Given the description of an element on the screen output the (x, y) to click on. 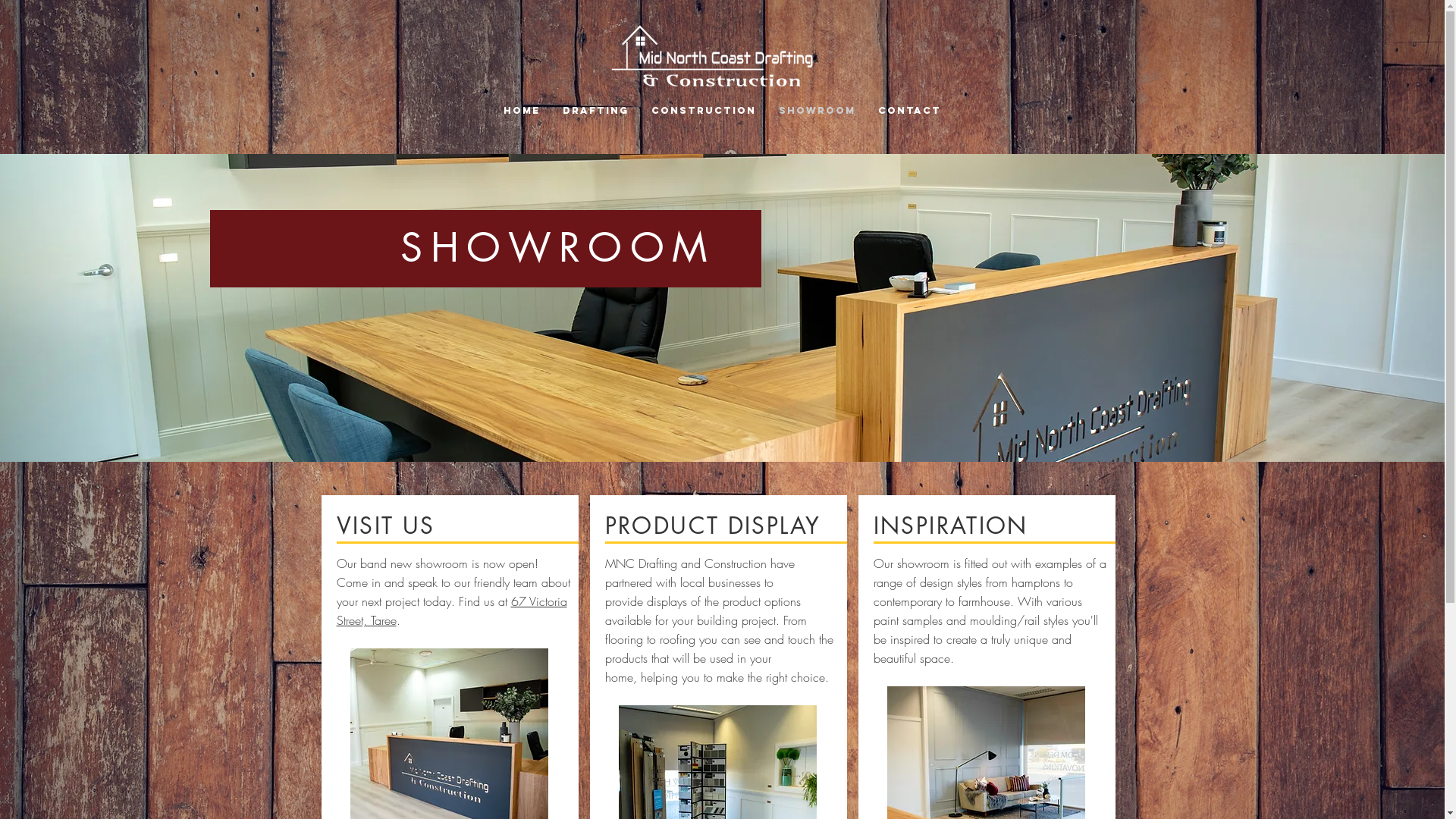
DRAFTING Element type: text (595, 108)
67 Victoria Street, Taree Element type: text (451, 610)
CONSTRUCTION Element type: text (703, 108)
CONTACT Element type: text (909, 108)
SHOWROOM Element type: text (816, 108)
HOME Element type: text (521, 108)
